Given the description of an element on the screen output the (x, y) to click on. 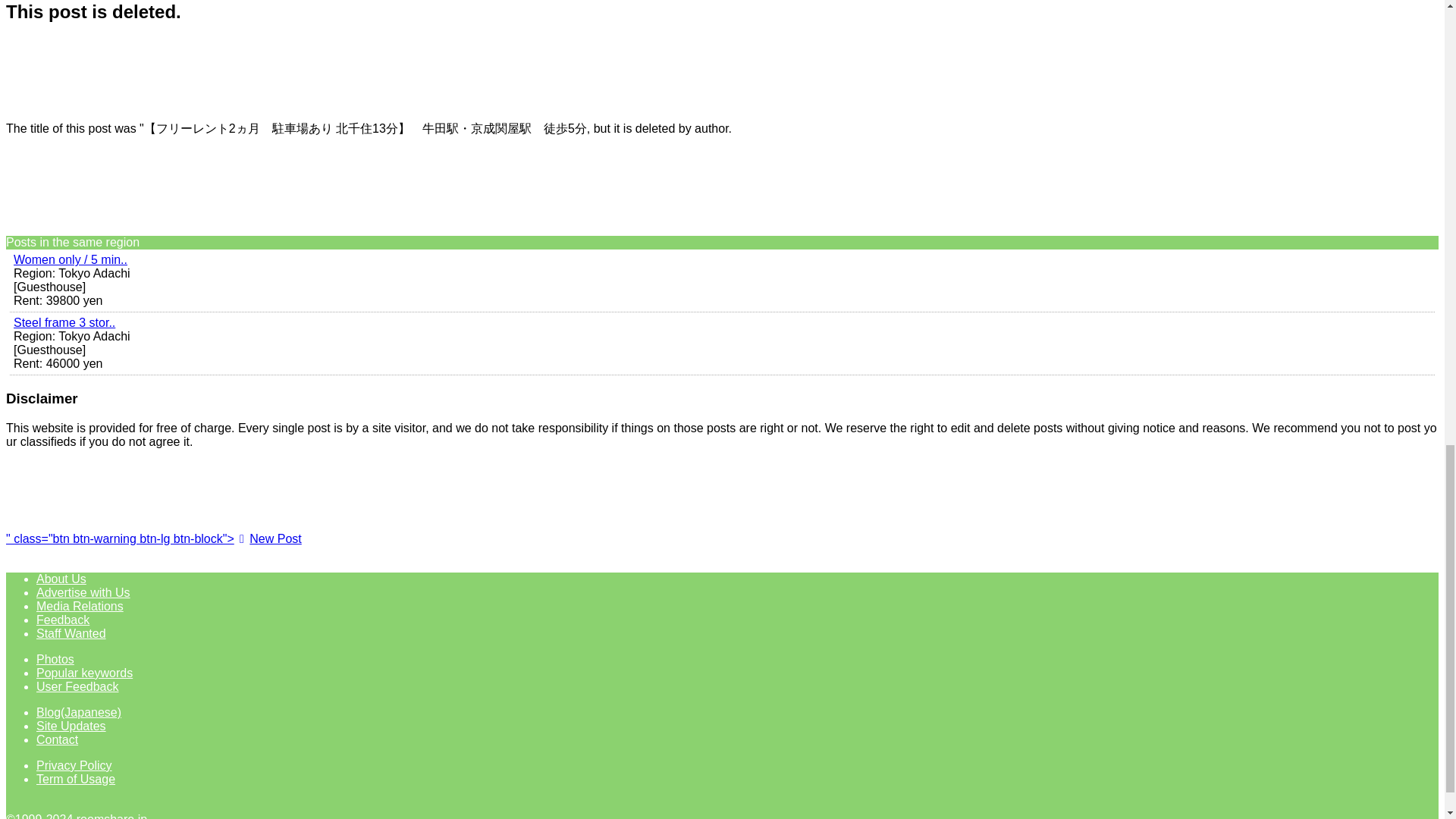
User Feedback (77, 686)
Term of Usage (75, 779)
Popular keywords (84, 672)
Privacy Policy (74, 765)
Staff Wanted (71, 633)
Media Relations (79, 605)
3rd party ad content (281, 498)
Photos (55, 658)
Contact (57, 739)
Site Updates (71, 725)
Steel frame 3 stor.. (64, 322)
Advertise with Us (83, 592)
3rd party ad content (281, 186)
Feedback (62, 619)
About Us (60, 578)
